Given the description of an element on the screen output the (x, y) to click on. 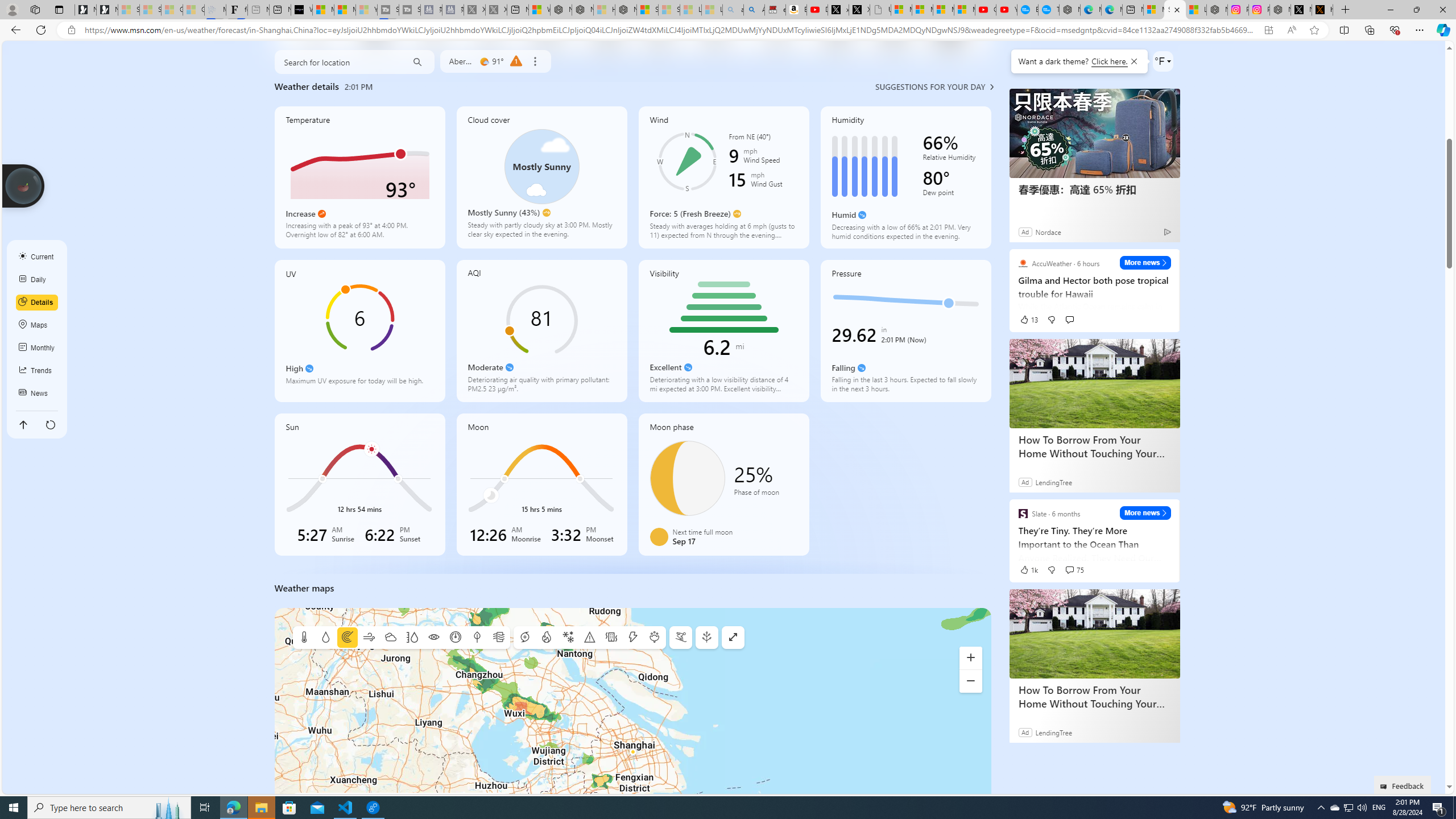
Sep 17 (687, 477)
Falling (861, 367)
Gloom - YouTube (985, 9)
Fire information (545, 637)
Nordace - Nordace has arrived Hong Kong (1069, 9)
Class: feedback_link_icon-DS-EntryPoint1-1 (1384, 786)
